Given the description of an element on the screen output the (x, y) to click on. 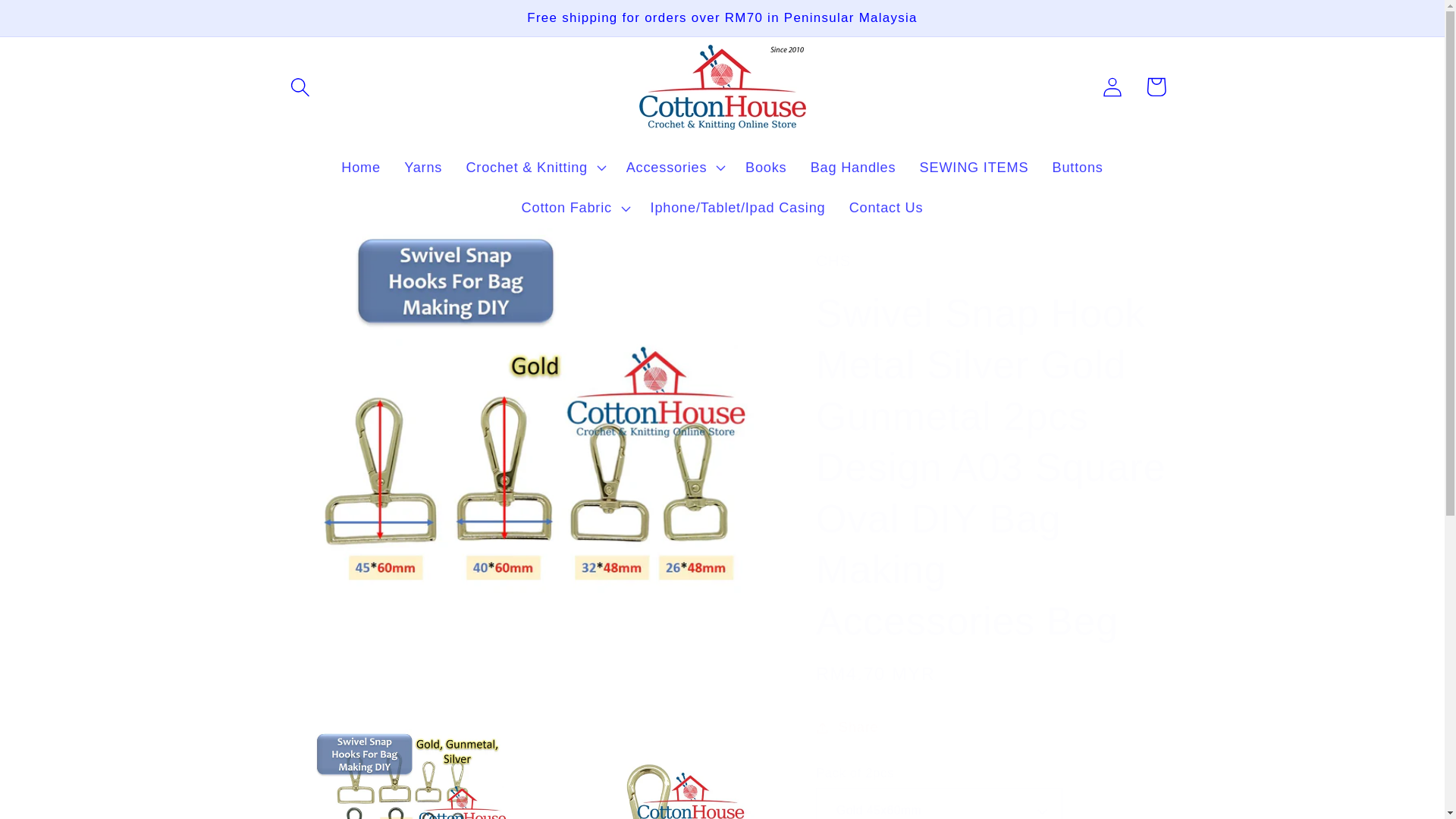
Yarns (423, 167)
Skip to content (59, 22)
Open media 2 in modal (397, 773)
Home (361, 167)
Open media 6 in modal (647, 773)
SEWING ITEMS (974, 167)
Books (765, 167)
Bag Handles (852, 167)
